Given the description of an element on the screen output the (x, y) to click on. 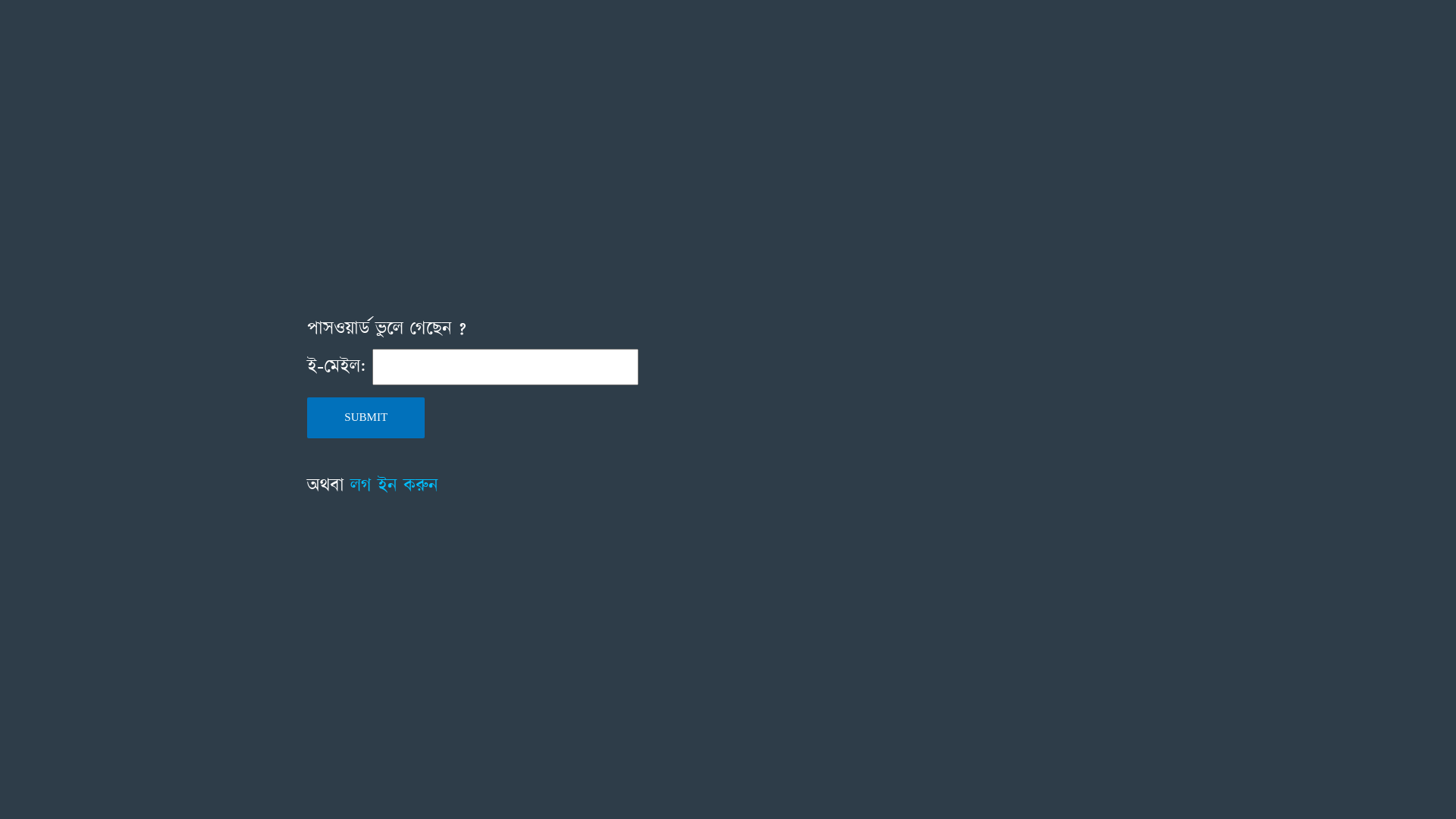
SUBMIT Element type: text (365, 418)
